Given the description of an element on the screen output the (x, y) to click on. 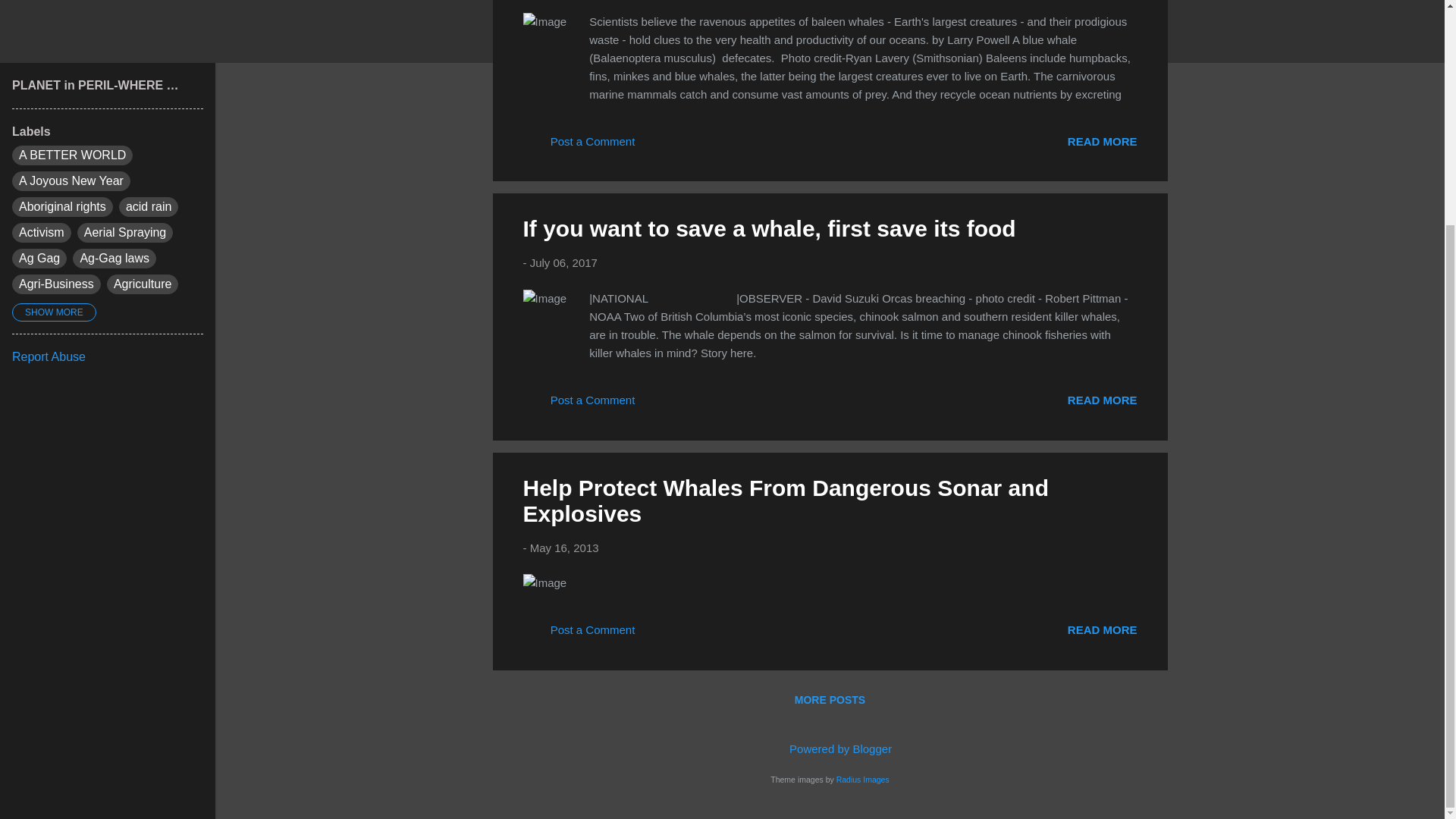
READ MORE (1102, 399)
Email Post (658, 404)
permanent link (562, 262)
MORE POSTS (829, 699)
Email Post (658, 146)
Email Post (658, 634)
Post a Comment (578, 634)
If you want to save a whale, first save its food (1102, 399)
READ MORE (1102, 629)
Radius Images (862, 777)
